Given the description of an element on the screen output the (x, y) to click on. 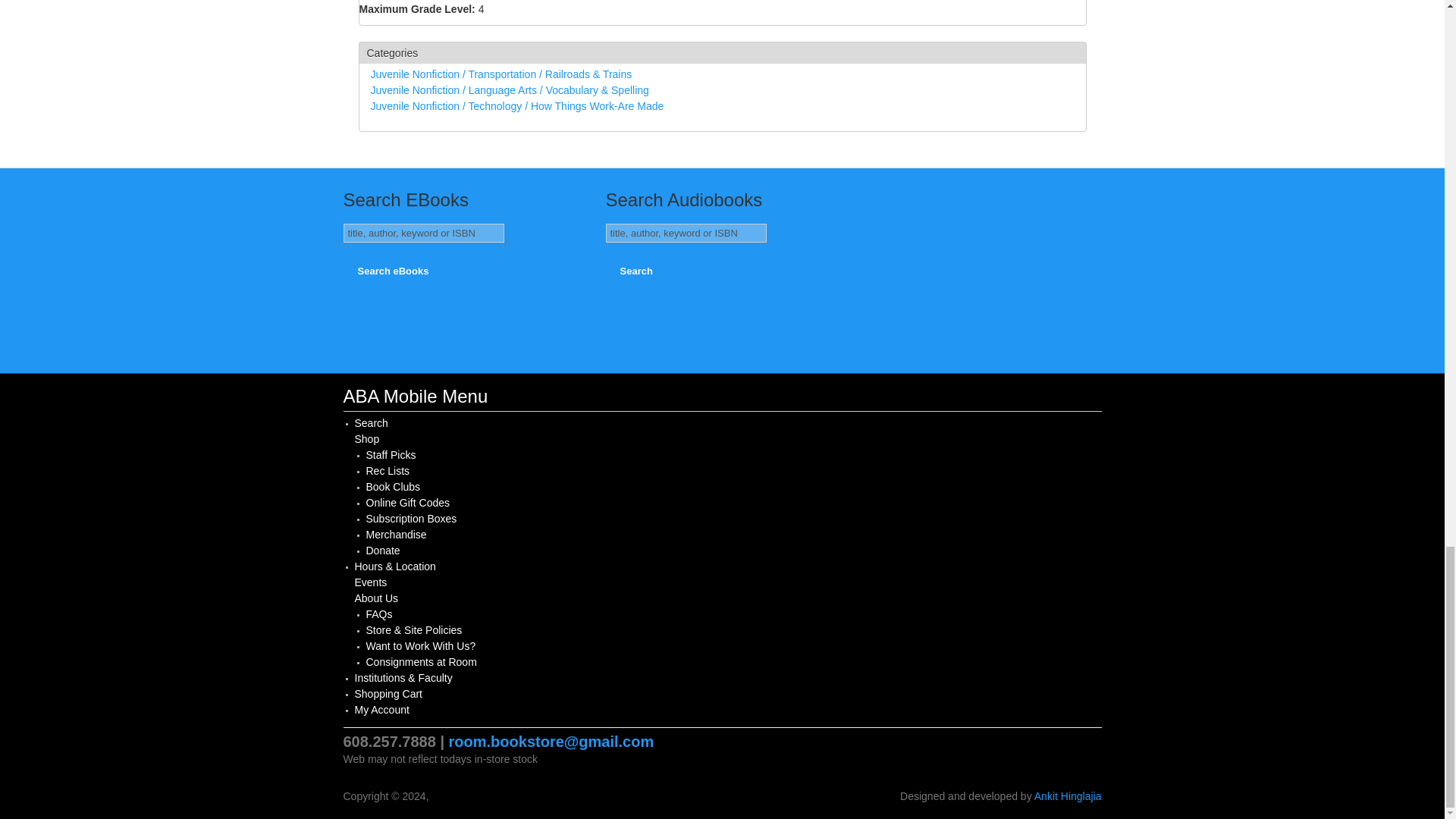
Search eBooks (393, 271)
Search eBooks (393, 271)
Search (636, 271)
title, author, keyword or ISBN (685, 232)
Shop (367, 439)
Search (371, 422)
Search (636, 271)
title, author, keyword or ISBN (422, 232)
